Given the description of an element on the screen output the (x, y) to click on. 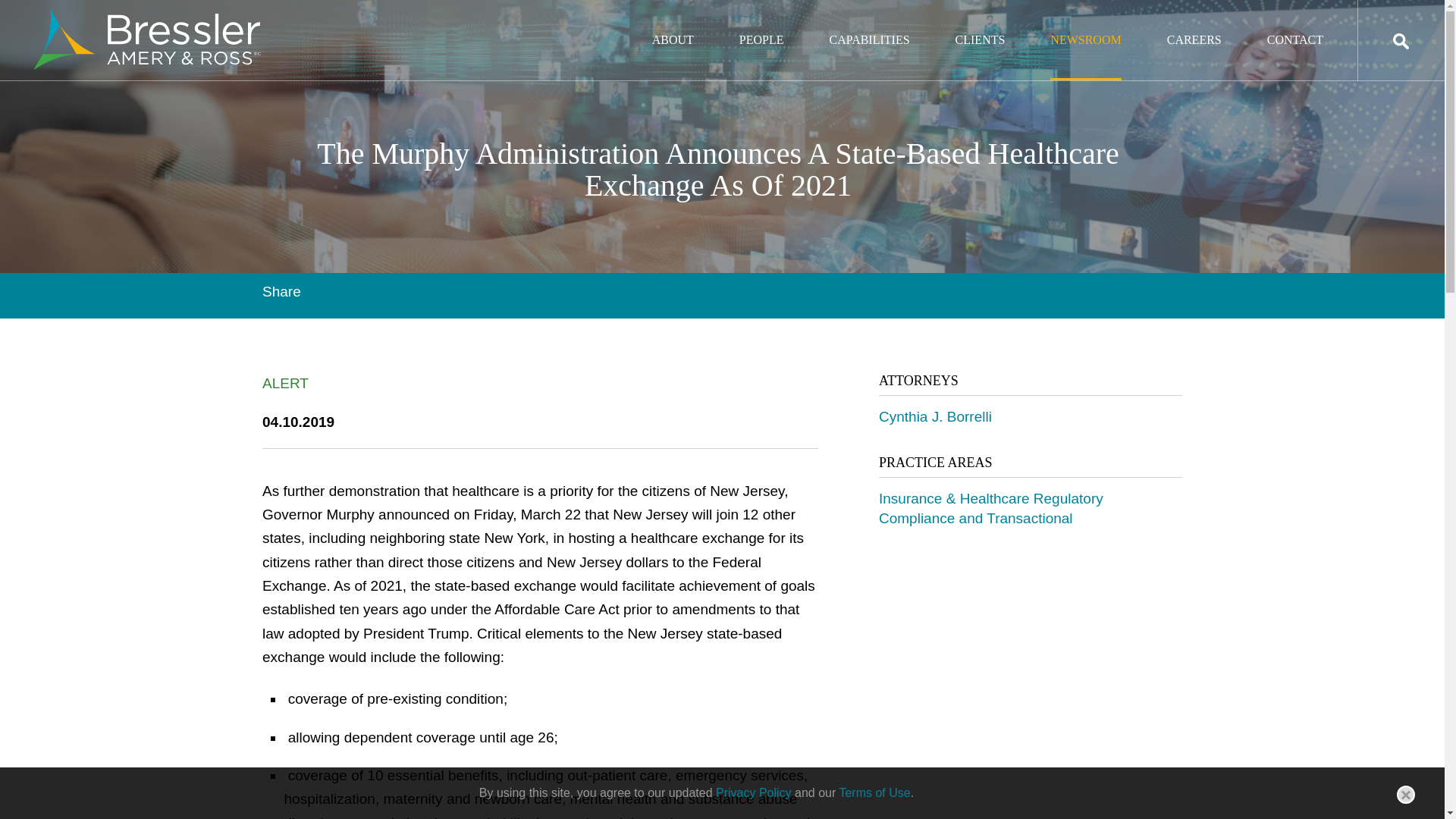
Menu (674, 19)
CAPABILITIES (868, 56)
PEOPLE (761, 56)
CLIENTS (980, 56)
Main Menu (674, 19)
Share (281, 291)
Main Content (667, 19)
CAREERS (1194, 56)
Cynthia J. Borrelli (935, 416)
Share (281, 291)
NEWSROOM (1085, 56)
